Given the description of an element on the screen output the (x, y) to click on. 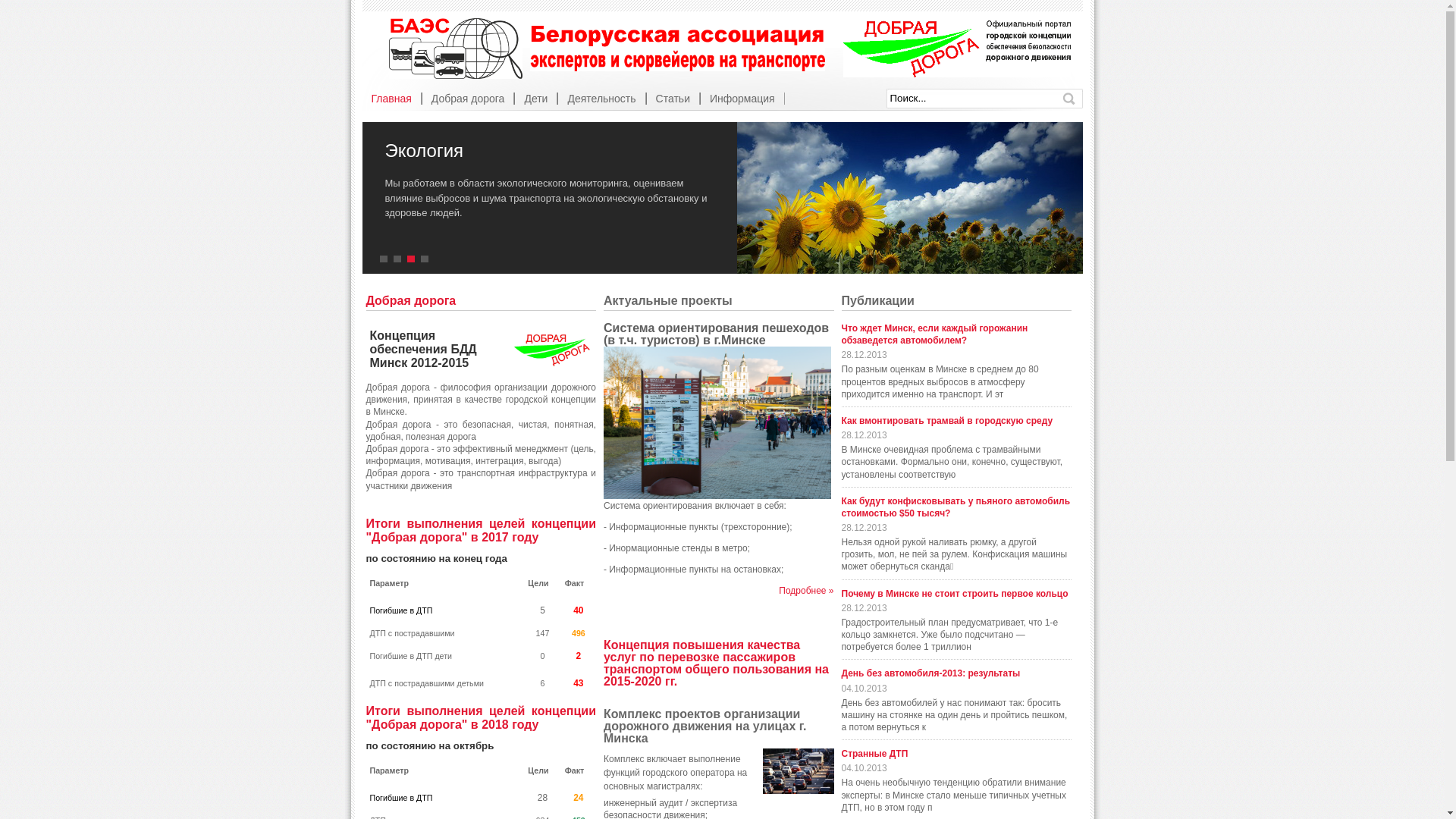
4 Element type: text (425, 259)
3 Element type: text (411, 259)
2 Element type: text (398, 259)
1 Element type: text (384, 259)
